Given the description of an element on the screen output the (x, y) to click on. 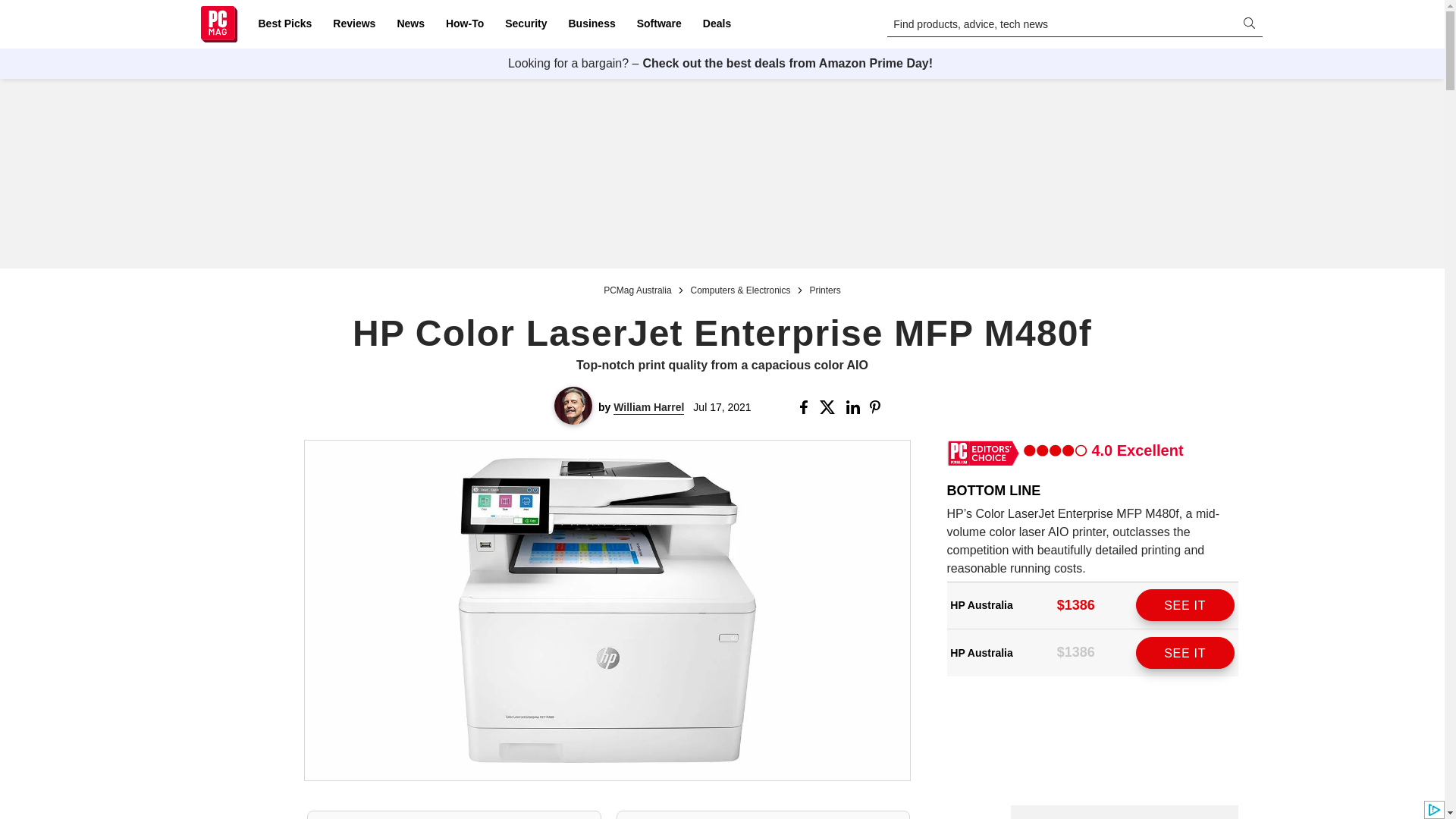
Reviews (353, 24)
Share this Story on Pinterest (879, 407)
Security (526, 24)
Share this Story on Linkedin (854, 407)
Share this Story on Facebook (806, 407)
Business (591, 24)
How-To (464, 24)
Best Picks (284, 24)
Share this Story on X (829, 407)
